Given the description of an element on the screen output the (x, y) to click on. 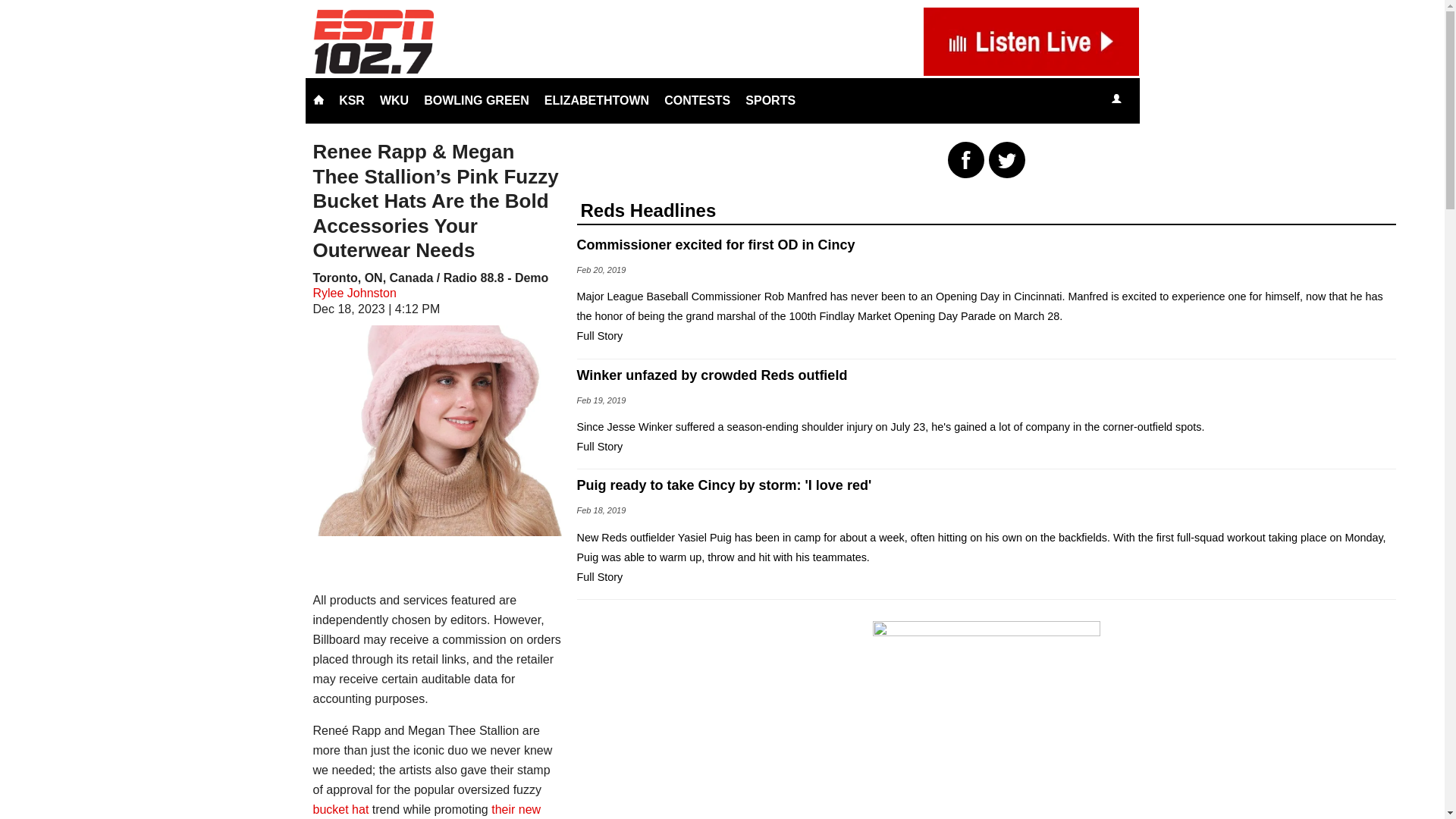
bucket hat (340, 809)
Rylee Johnston (354, 292)
ELIZABETHTOWN (596, 100)
KSR (351, 100)
SPORTS (770, 100)
Sign In (1115, 100)
Sign In (1116, 99)
Listen Live (1161, 100)
WKU (394, 100)
CONTESTS (697, 100)
